Given the description of an element on the screen output the (x, y) to click on. 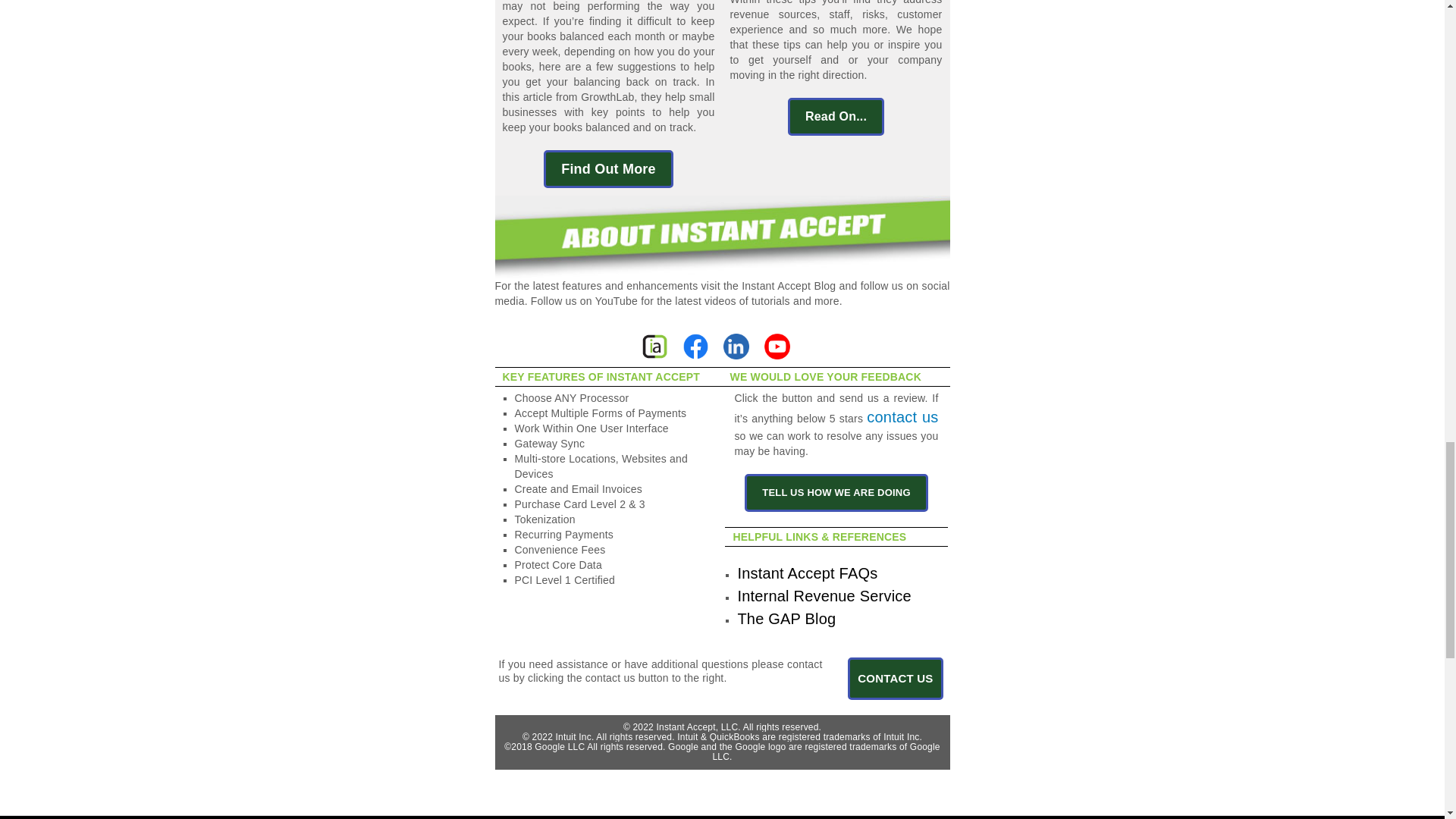
Linkedin Icon (735, 345)
Instant Accept FAQs (806, 573)
icon-instant-accept (655, 346)
Internal Revenue Service (823, 596)
The GAP Blog (785, 618)
icon-facebook (694, 345)
